Given the description of an element on the screen output the (x, y) to click on. 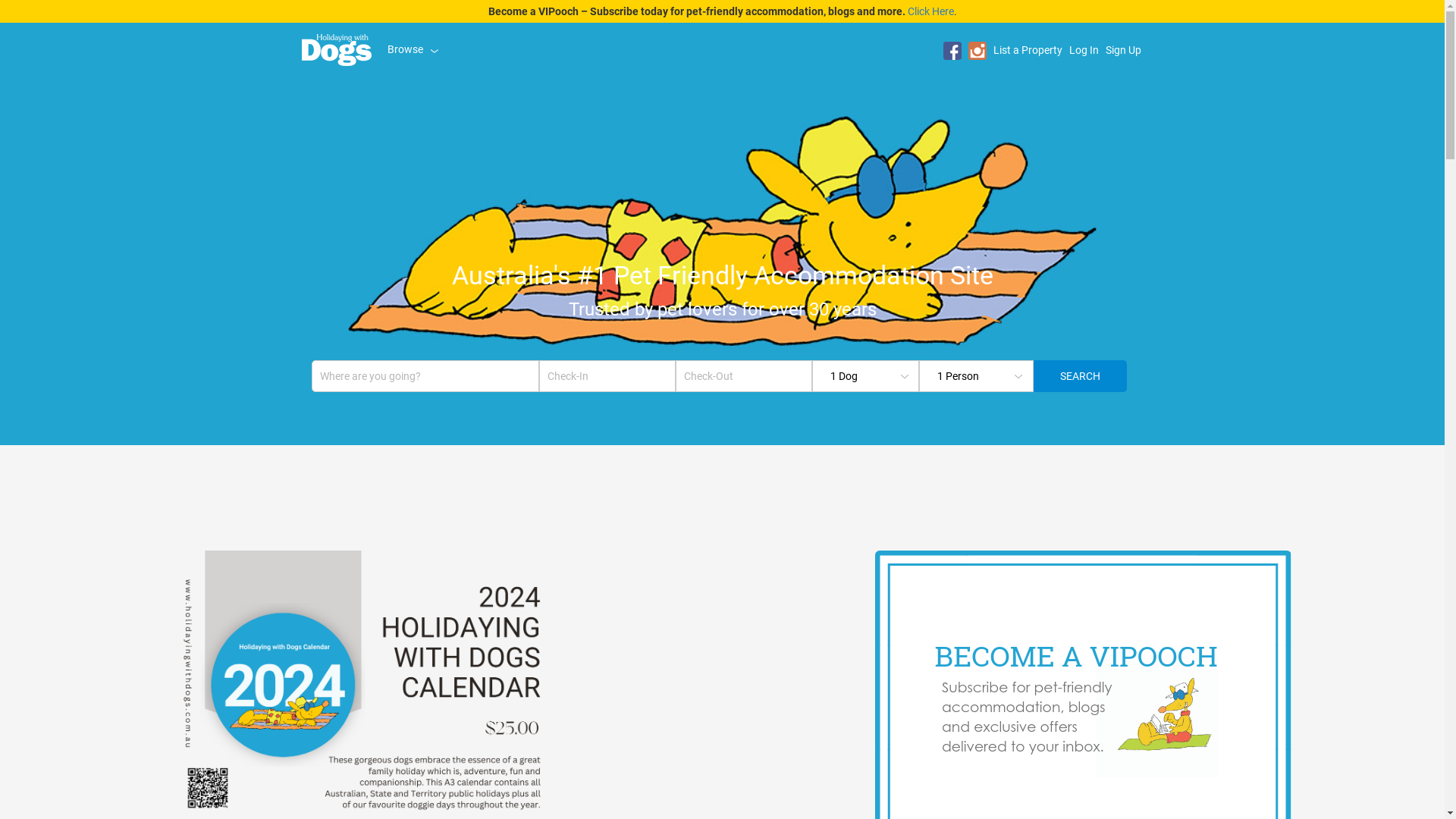
Search Element type: text (1079, 376)
Click Here Element type: text (929, 11)
Log In Element type: text (1083, 49)
Sign Up Element type: text (1122, 49)
Browse Element type: text (412, 48)
List a Property Element type: text (1026, 49)
